Given the description of an element on the screen output the (x, y) to click on. 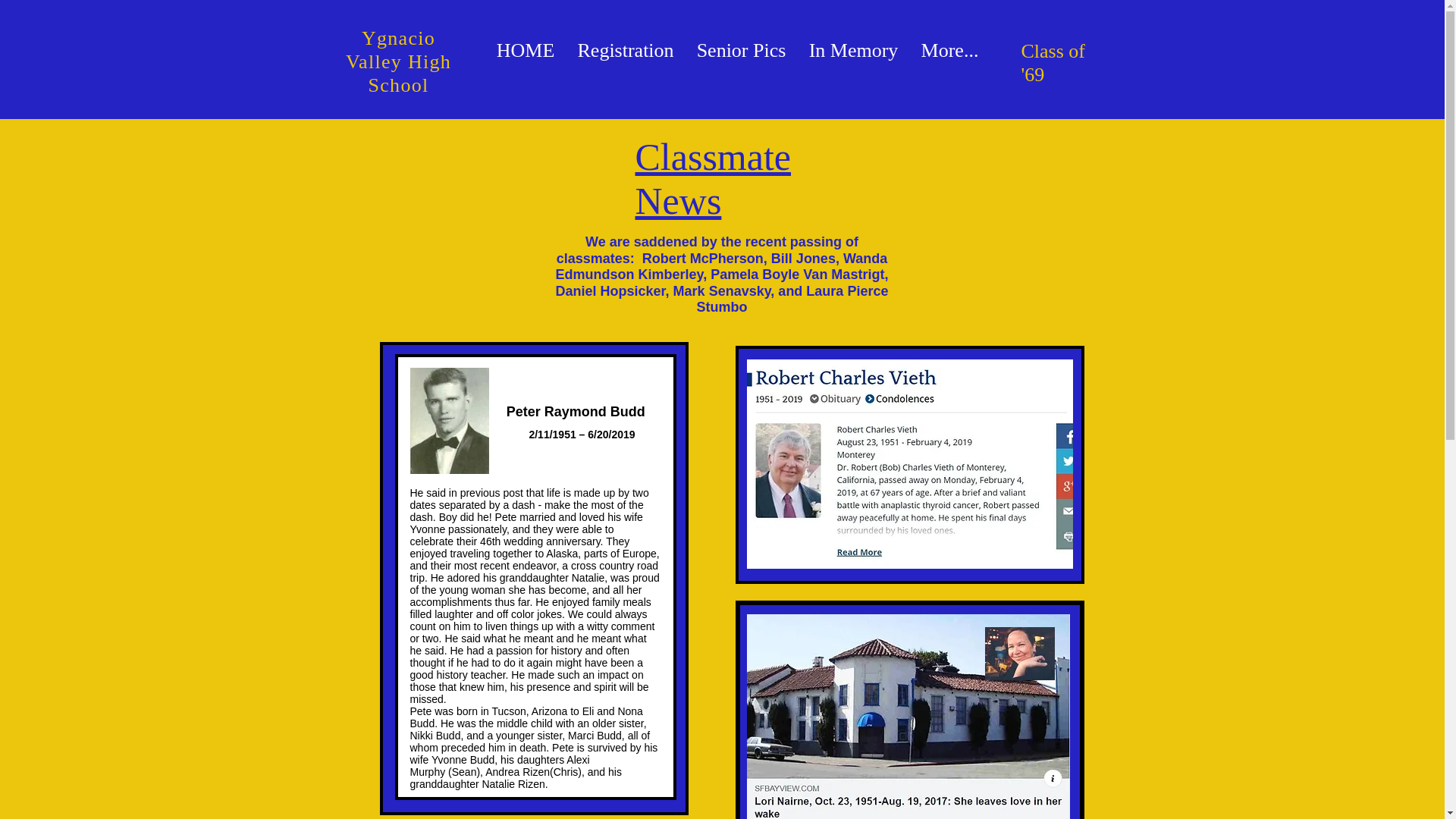
Registration (625, 50)
In Memory (853, 50)
Chris (565, 771)
Alexi Murphy (499, 765)
HOME (525, 50)
Natalie Rizen (512, 784)
Yvonne Budd (462, 759)
Andrea Rizen (517, 771)
Senior Pics (741, 50)
Sean (464, 771)
